Given the description of an element on the screen output the (x, y) to click on. 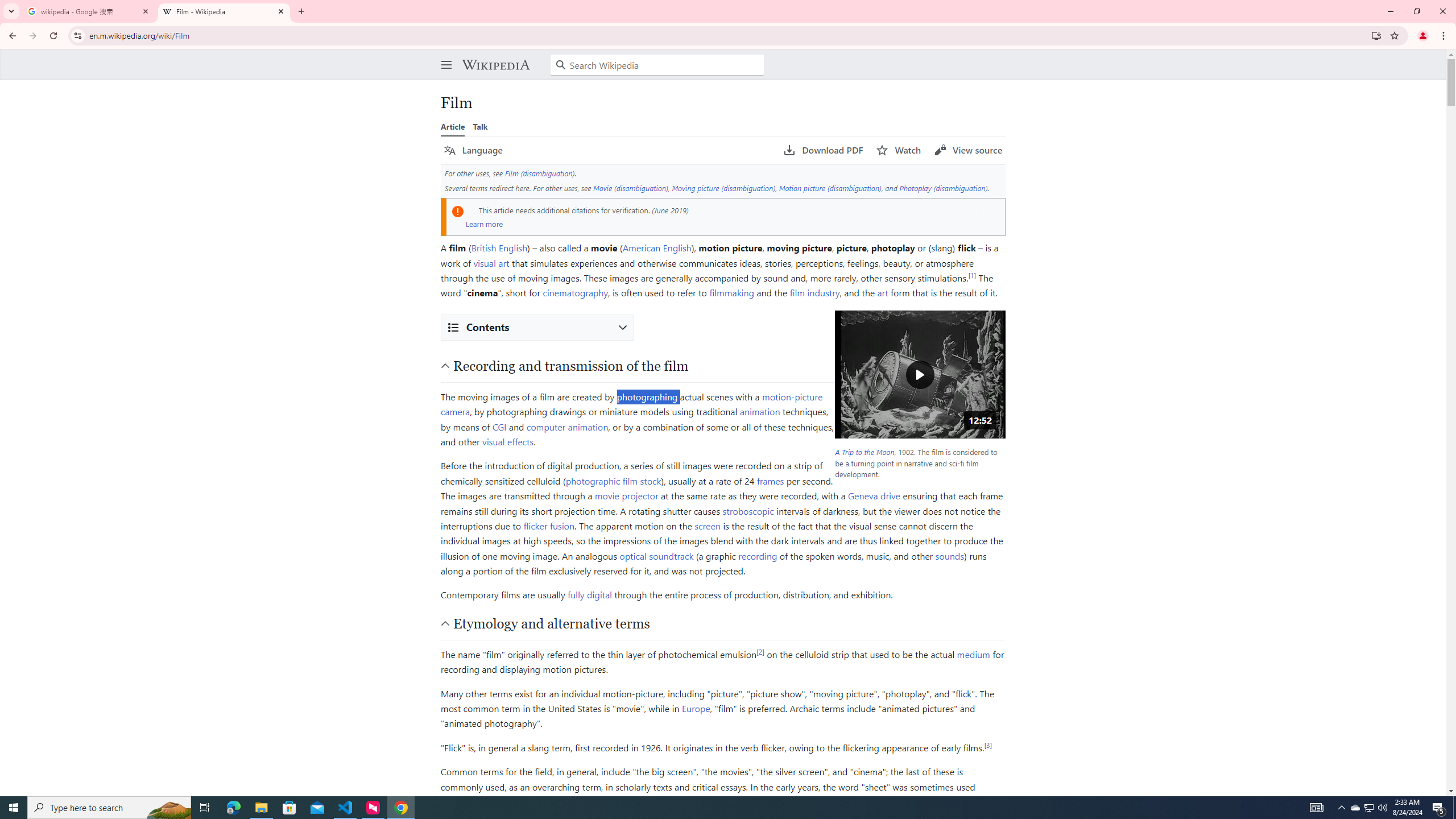
British English (498, 247)
animation (759, 411)
stroboscopic (748, 510)
AutomationID: main-menu-input (443, 55)
Watch (898, 149)
Language (472, 149)
[3] (988, 744)
A Trip to the Moon (863, 452)
Talk (480, 126)
cinematography (575, 292)
filmmaking (731, 292)
